Given the description of an element on the screen output the (x, y) to click on. 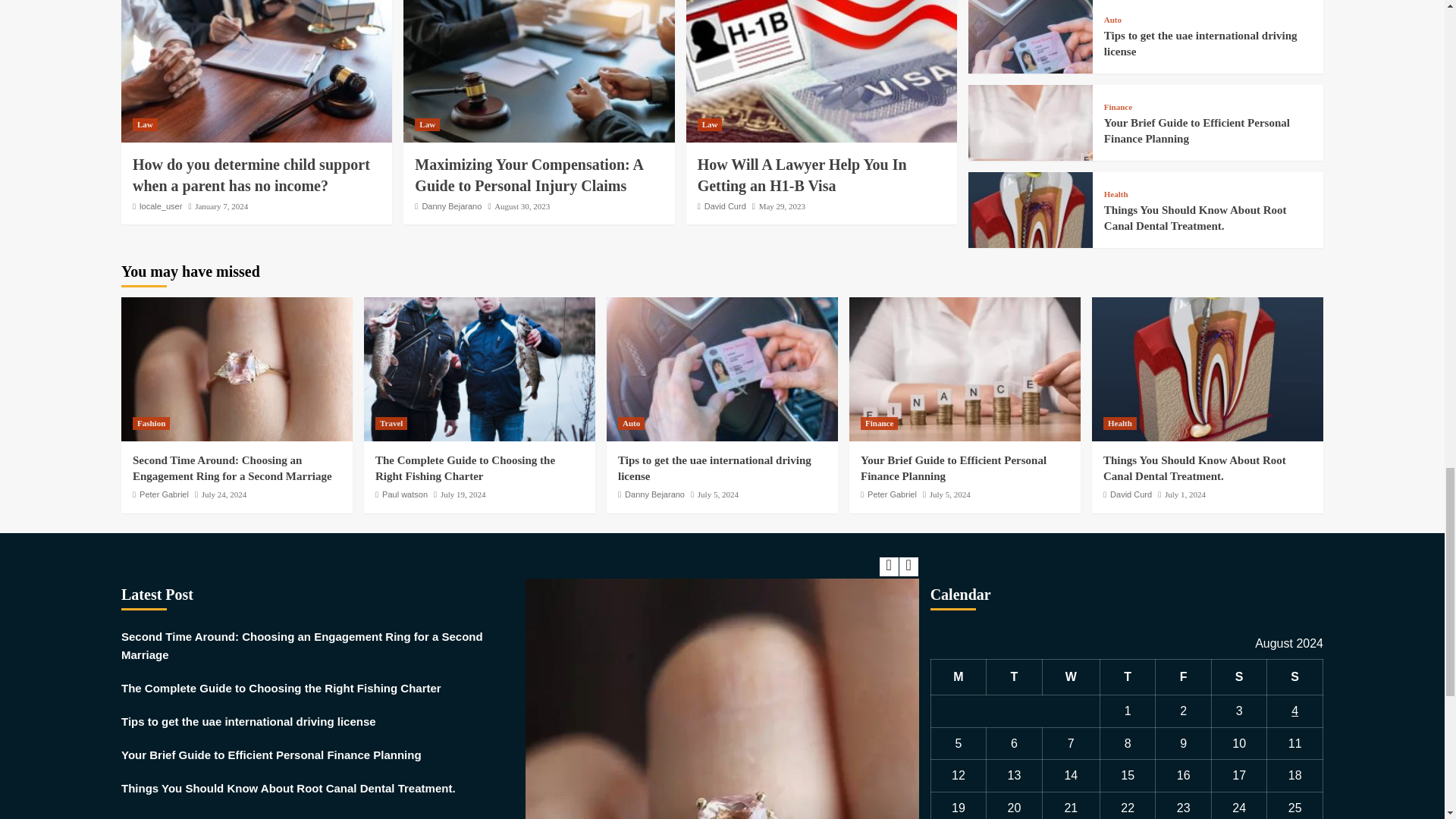
How Will A Lawyer Help You In Getting an H1-B Visa (802, 175)
Monday (958, 677)
Saturday (1238, 677)
Law (426, 124)
Danny Bejarano (451, 205)
May 29, 2023 (781, 205)
Wednesday (1070, 677)
Sunday (1294, 677)
David Curd (724, 205)
August 30, 2023 (522, 205)
Law (144, 124)
Law (709, 124)
Thursday (1127, 677)
